Given the description of an element on the screen output the (x, y) to click on. 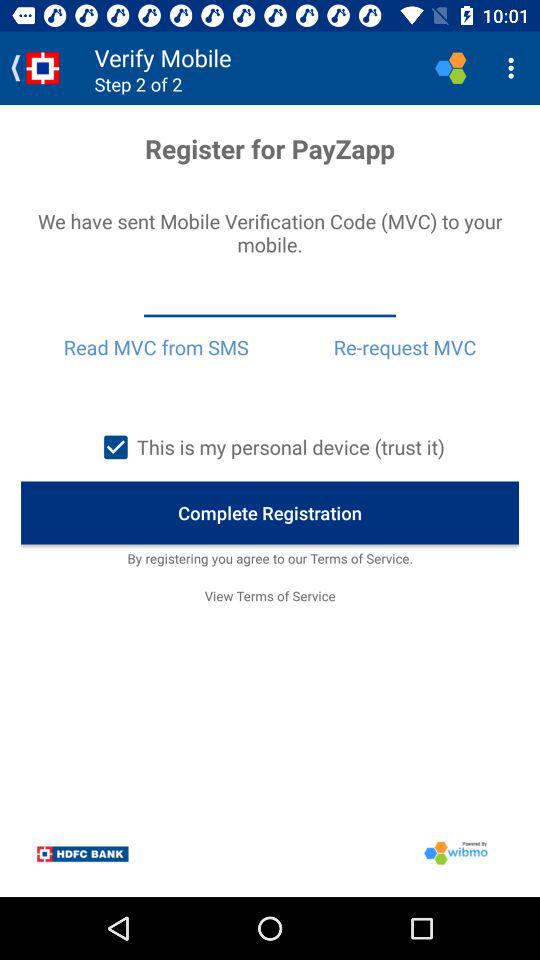
select re-request mvc icon (404, 347)
